Given the description of an element on the screen output the (x, y) to click on. 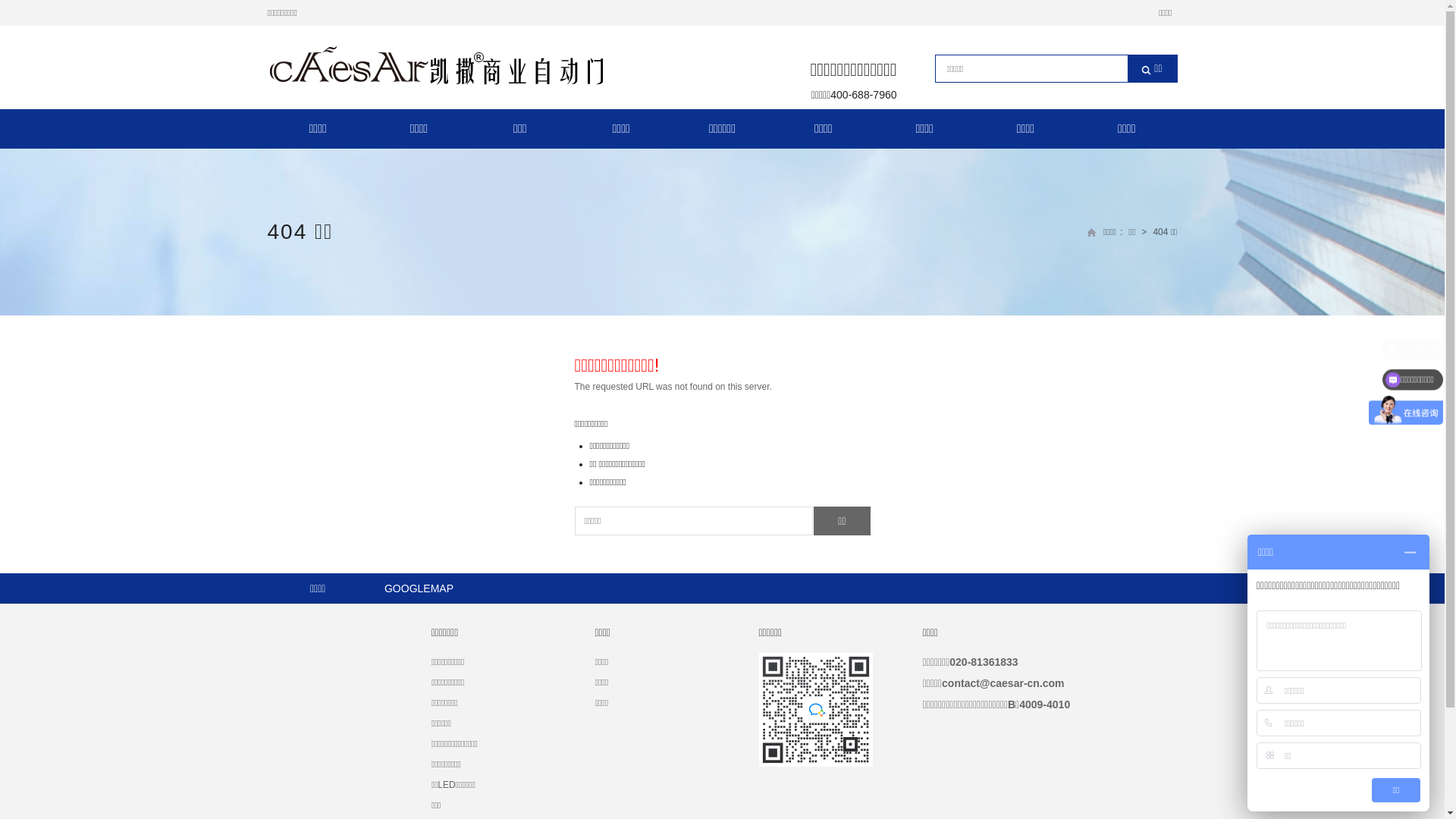
contact@caesar-cn.com Element type: text (1002, 683)
GOOGLEMAP Element type: text (418, 588)
